Given the description of an element on the screen output the (x, y) to click on. 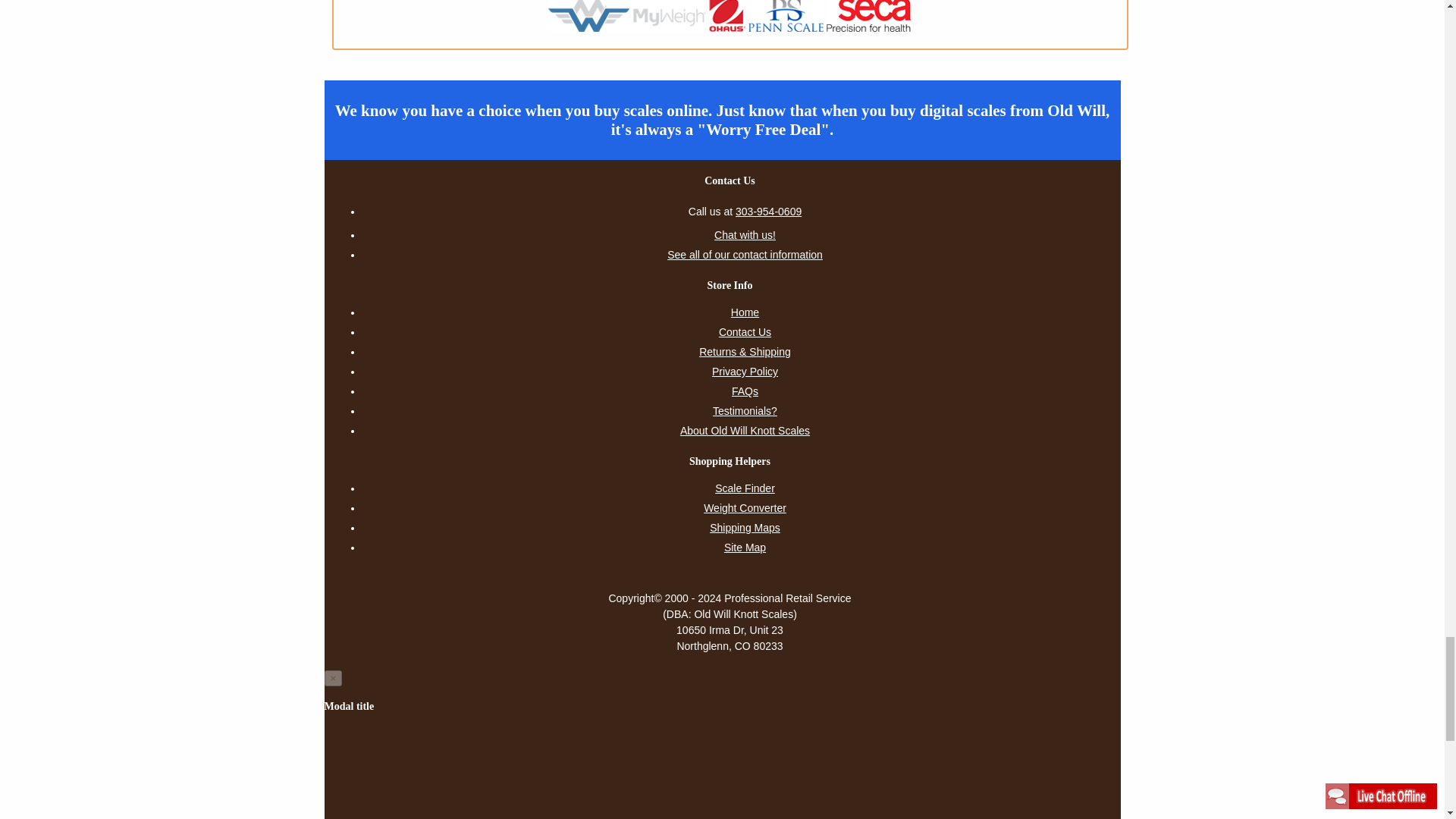
Go to our privacy policy page (744, 371)
Go see our contact information (744, 254)
Go read our frequently asked questions (745, 391)
Go to our scale finding tool (744, 487)
Go to our contact information page (745, 332)
Go to our ''about us'' page (744, 430)
Go to our testimonials page (745, 410)
Go to the homepage (744, 312)
